Given the description of an element on the screen output the (x, y) to click on. 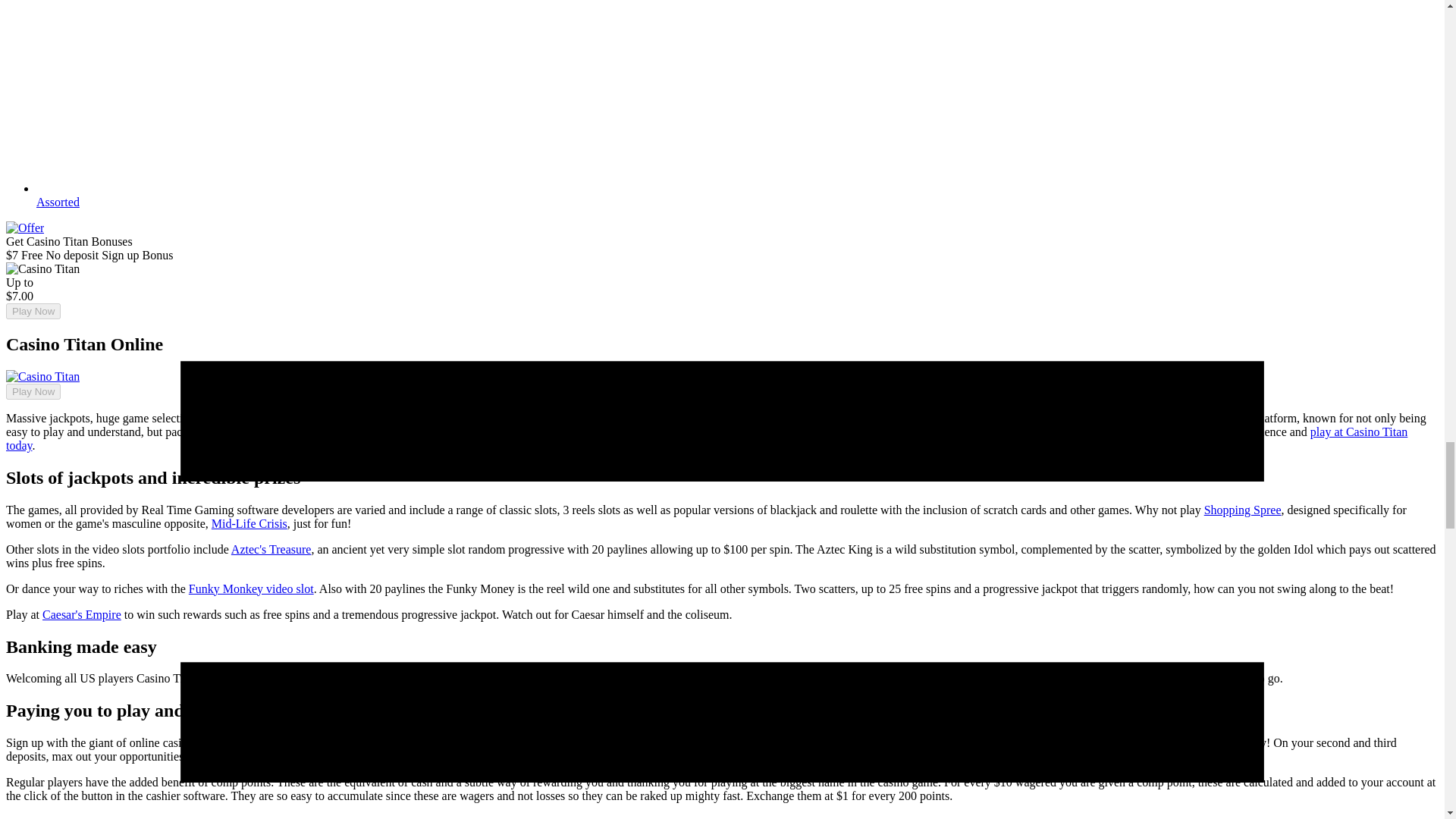
Aztec's Treasure (271, 549)
Mid-Life Crisis (248, 522)
Assorted (58, 201)
Caesar's Empire (81, 614)
play at Casino Titan today (706, 438)
Funky Monkey video slot (251, 588)
Play Now (33, 391)
Play Now (33, 311)
Shopping Spree (1242, 509)
